Given the description of an element on the screen output the (x, y) to click on. 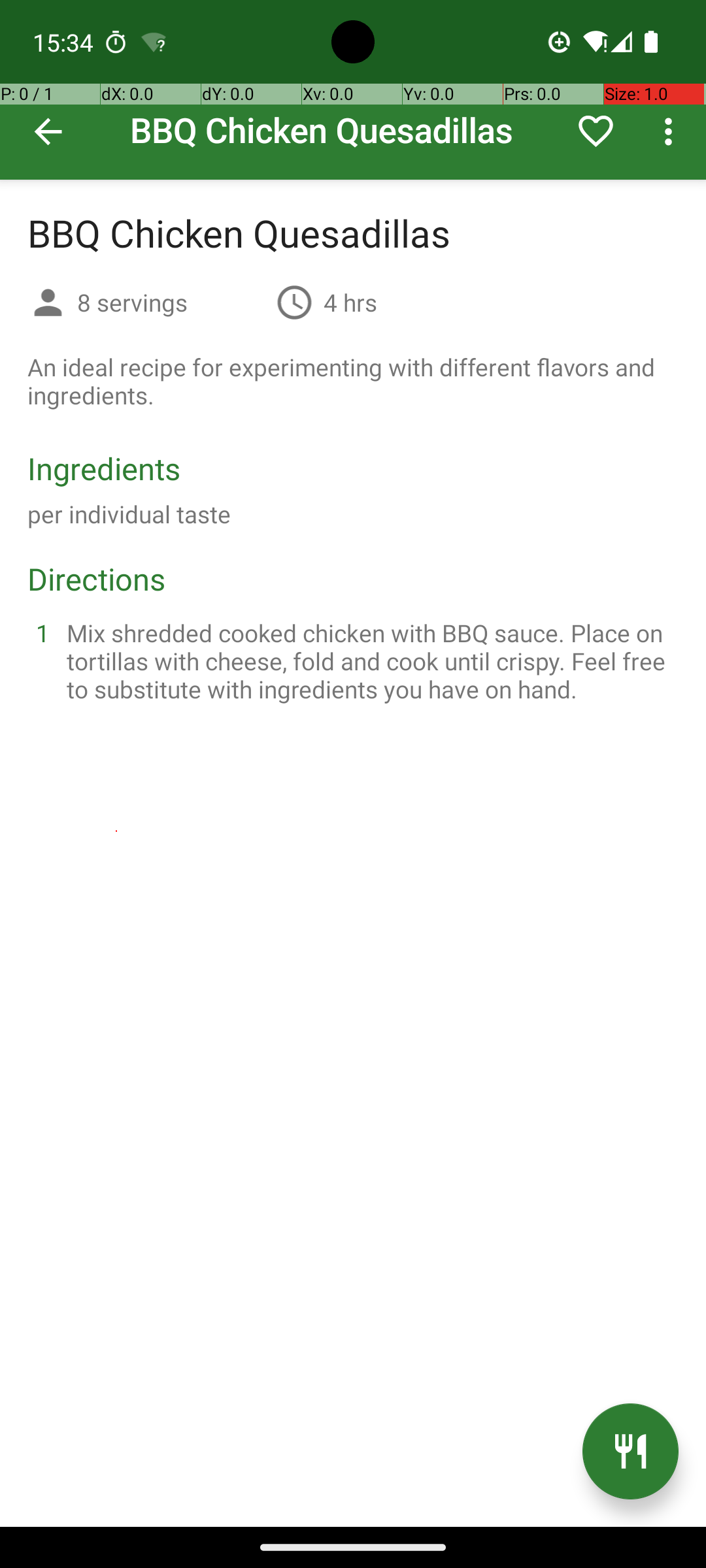
Mix shredded cooked chicken with BBQ sauce. Place on tortillas with cheese, fold and cook until crispy. Feel free to substitute with ingredients you have on hand. Element type: android.widget.TextView (368, 660)
